Given the description of an element on the screen output the (x, y) to click on. 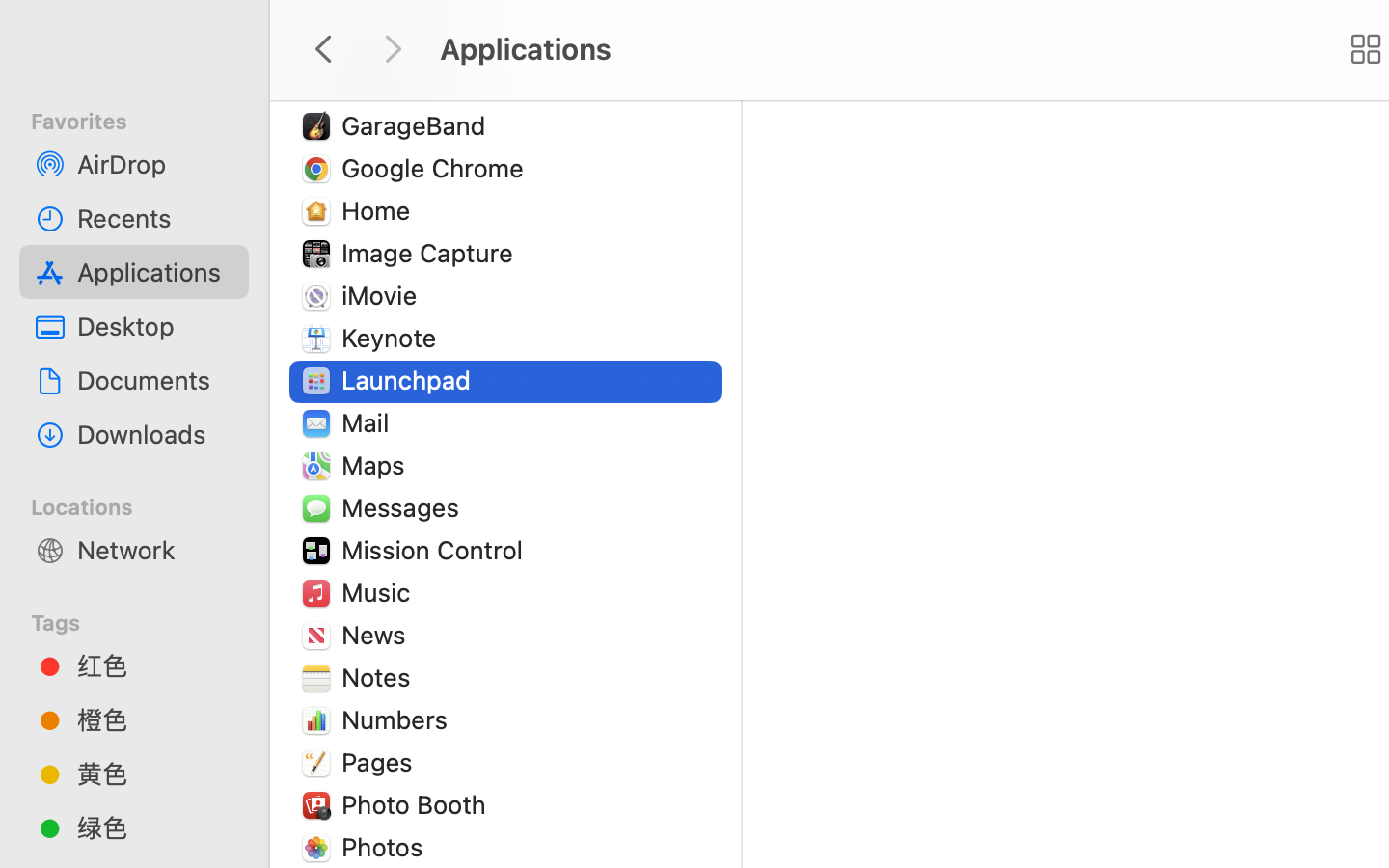
Google Chrome Element type: AXTextField (436, 167)
Home Element type: AXTextField (379, 209)
Recents Element type: AXStaticText (155, 217)
Numbers Element type: AXTextField (399, 719)
